Given the description of an element on the screen output the (x, y) to click on. 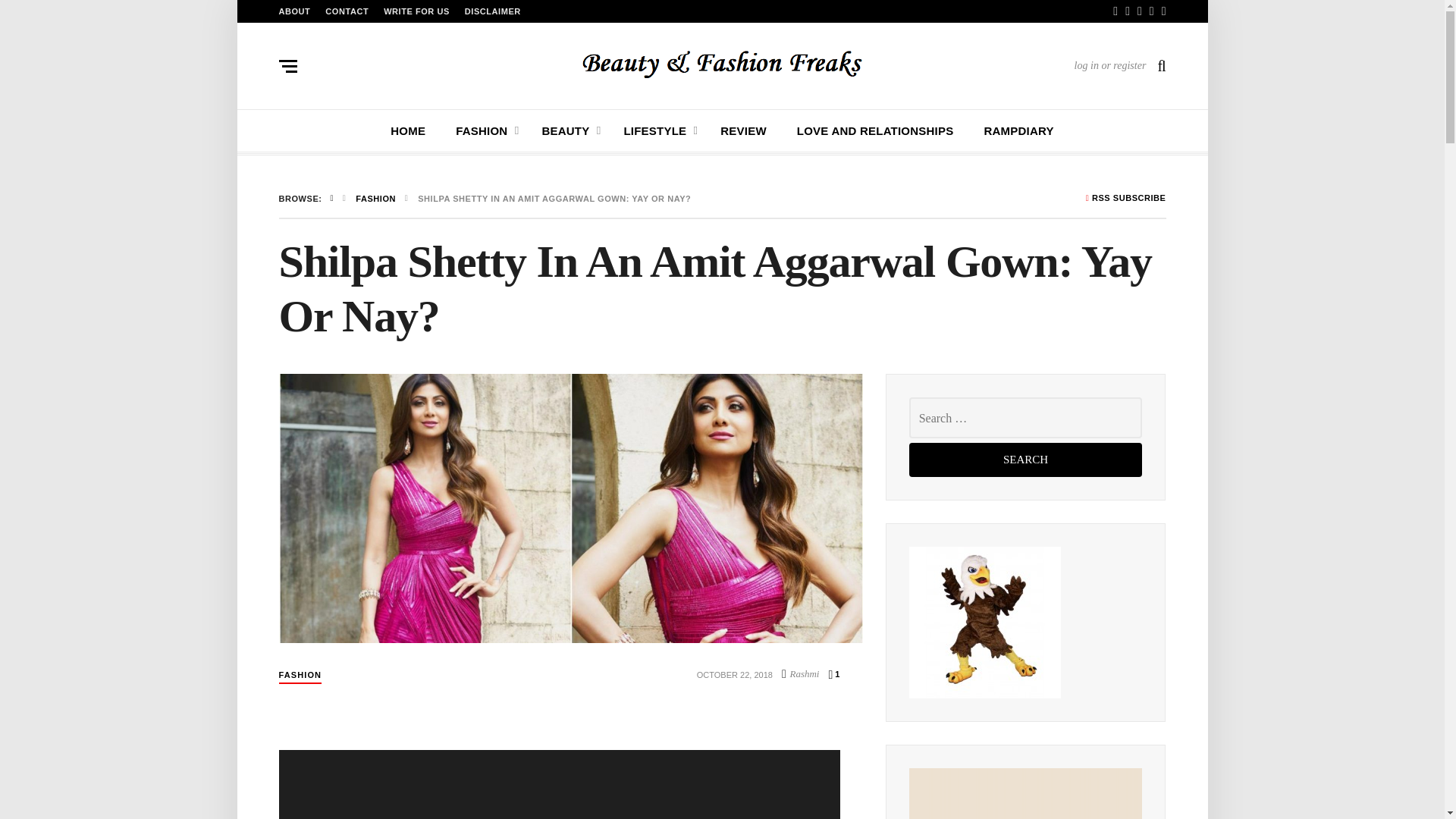
Search (1024, 459)
Search (907, 406)
Search (1024, 459)
